Given the description of an element on the screen output the (x, y) to click on. 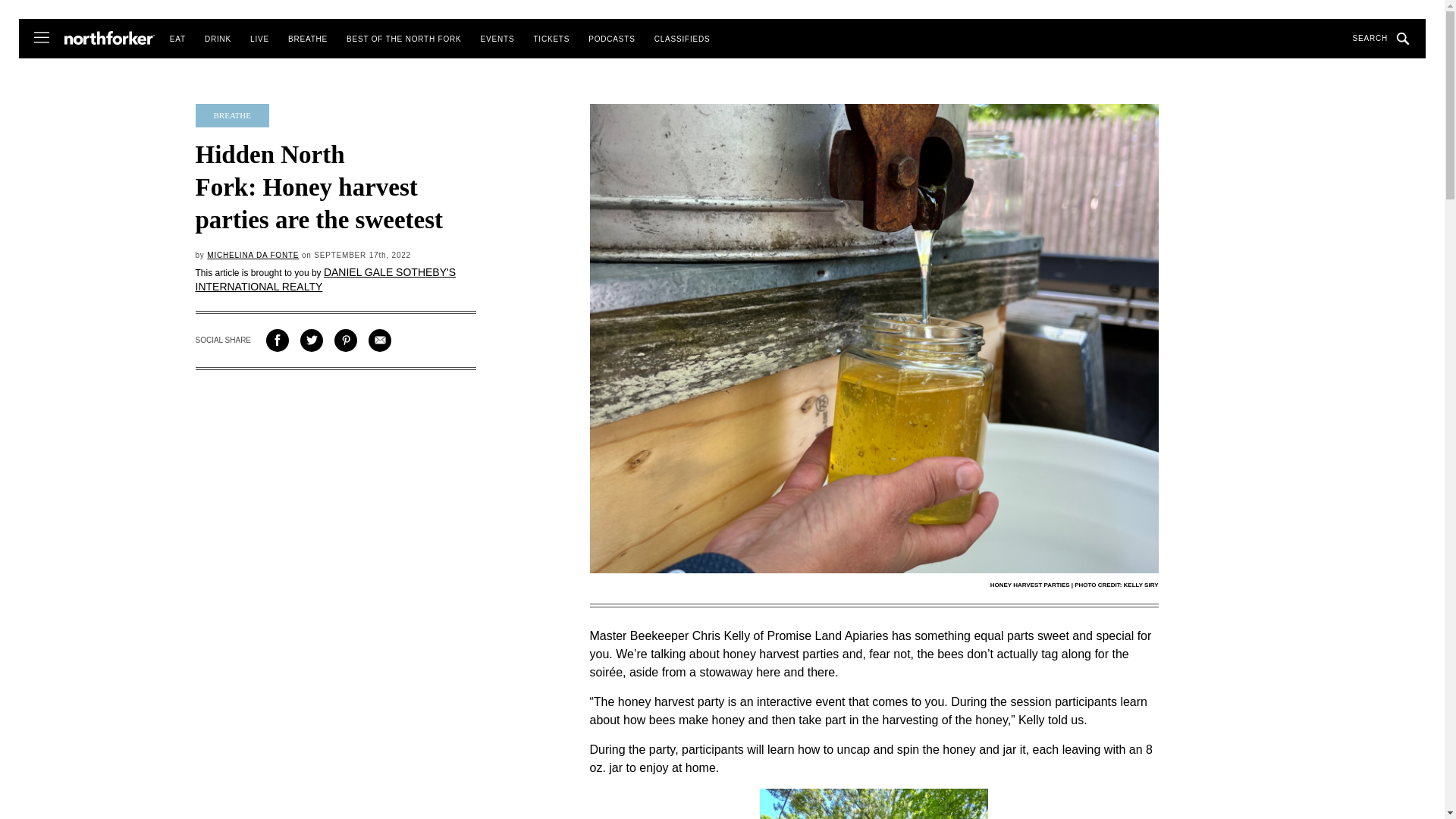
Share via pinterest. (345, 340)
BREATHE (307, 39)
TICKETS (550, 39)
BEST OF THE NORTH FORK (403, 39)
CLASSIFIEDS (681, 39)
LIVE (259, 39)
Share via email. (379, 340)
EVENTS (497, 39)
Share on Facebook. (277, 340)
